Given the description of an element on the screen output the (x, y) to click on. 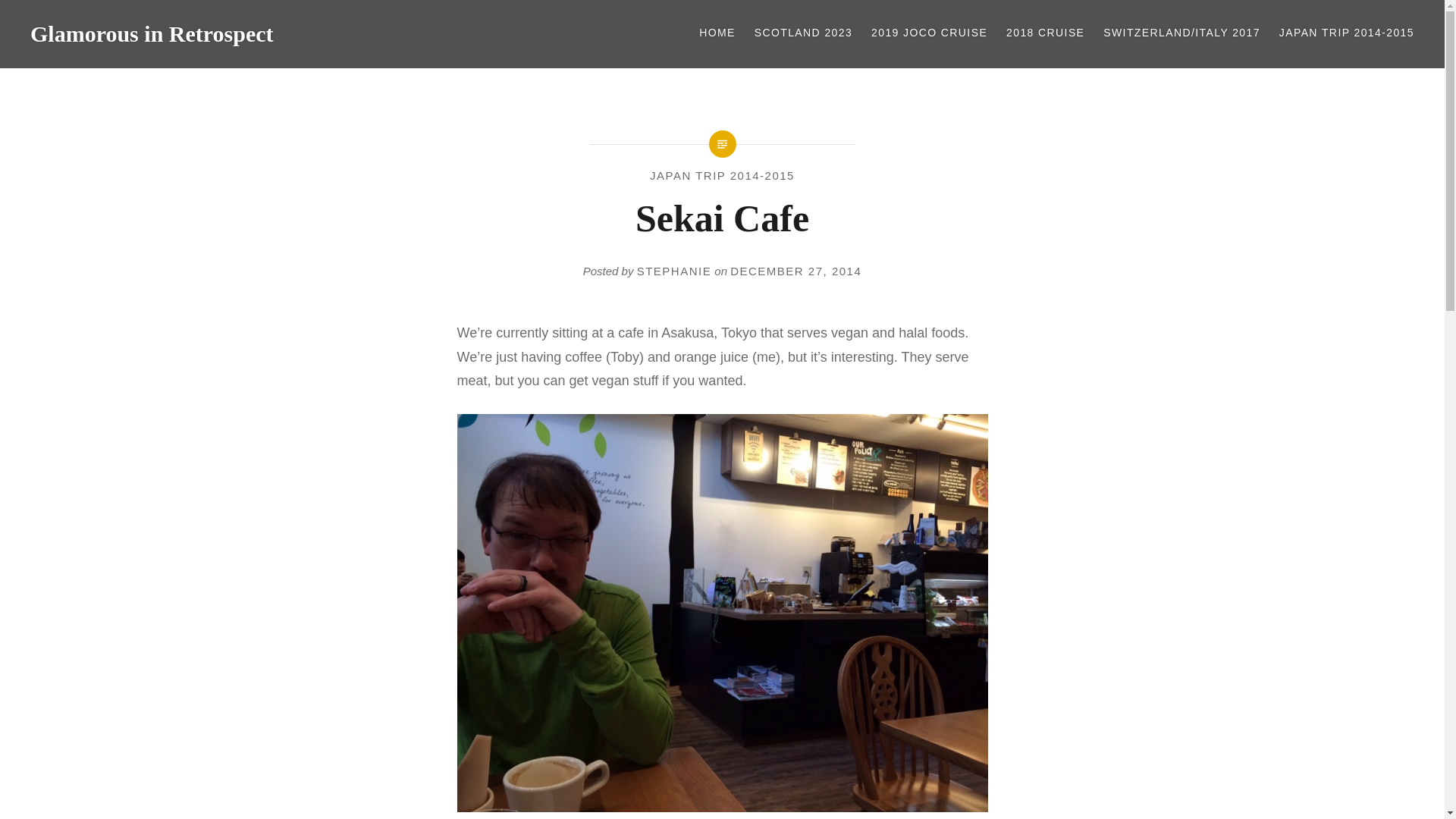
Glamorous in Retrospect (151, 33)
Search (578, 19)
SCOTLAND 2023 (802, 32)
JAPAN TRIP 2014-2015 (1346, 32)
2018 CRUISE (1045, 32)
JAPAN TRIP 2014-2015 (721, 174)
HOME (716, 32)
DECEMBER 27, 2014 (795, 270)
2019 JOCO CRUISE (928, 32)
STEPHANIE (674, 270)
